Given the description of an element on the screen output the (x, y) to click on. 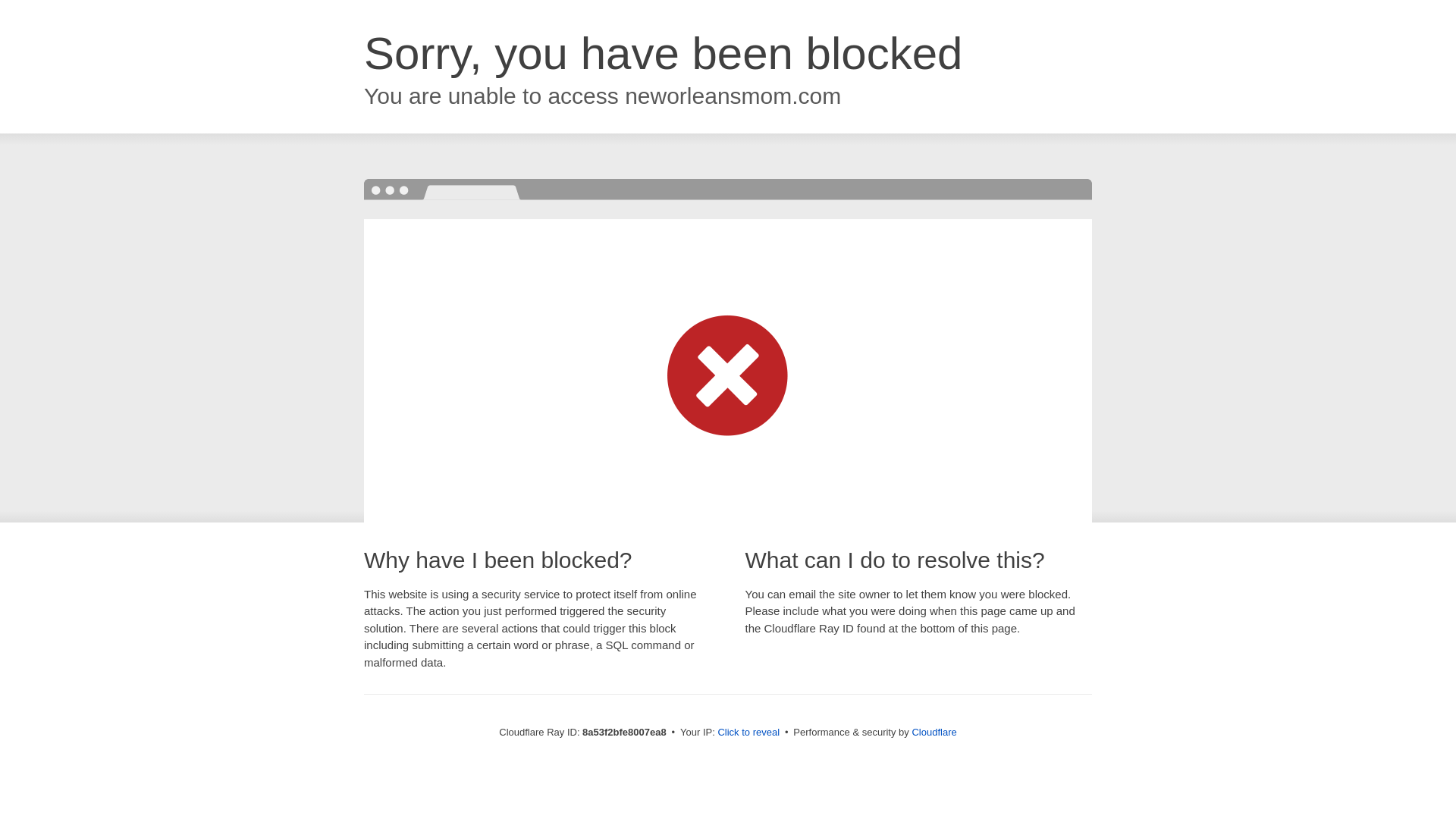
Cloudflare (933, 731)
Click to reveal (747, 732)
